Given the description of an element on the screen output the (x, y) to click on. 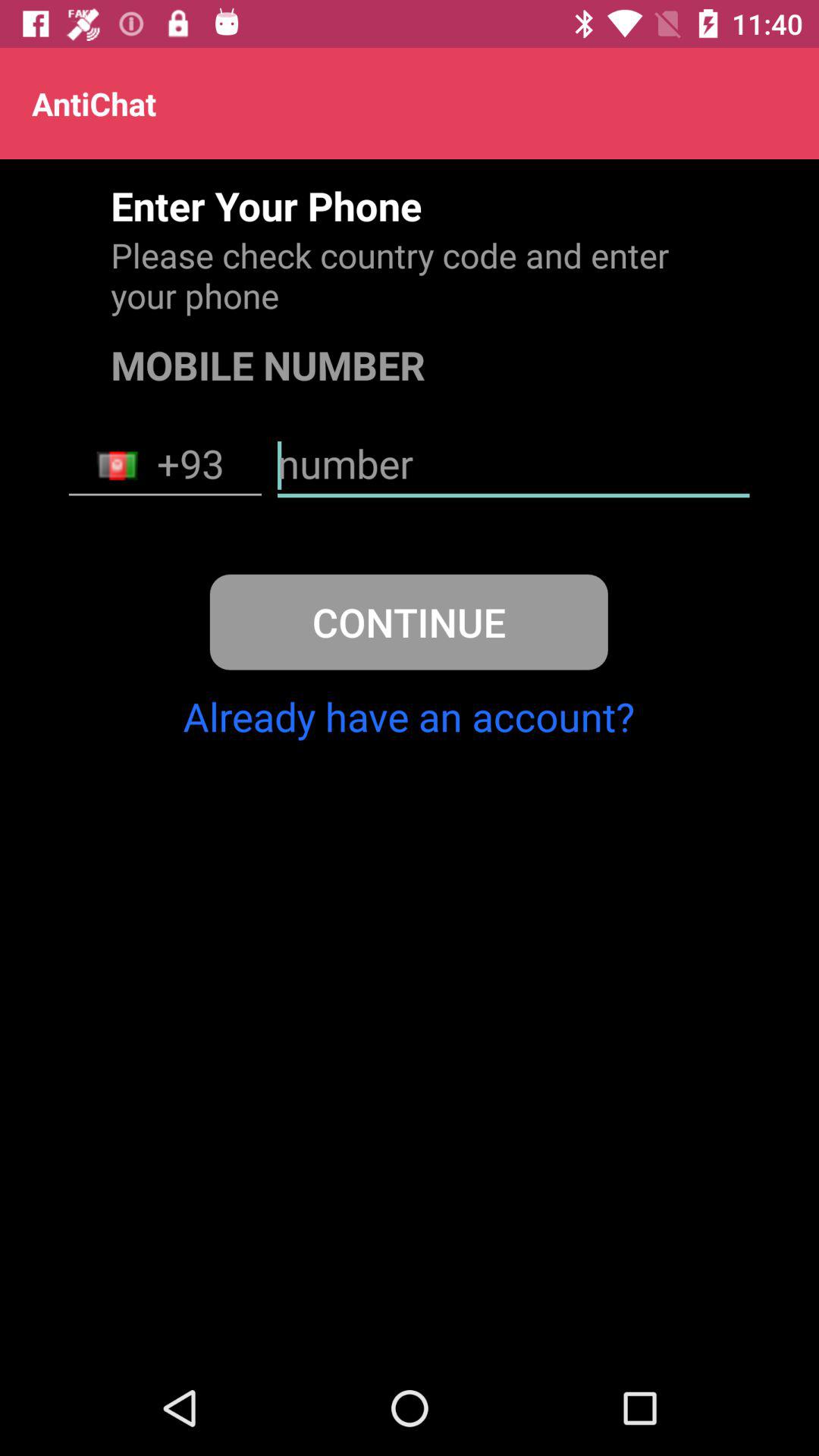
choose icon below mobile number item (164, 466)
